Given the description of an element on the screen output the (x, y) to click on. 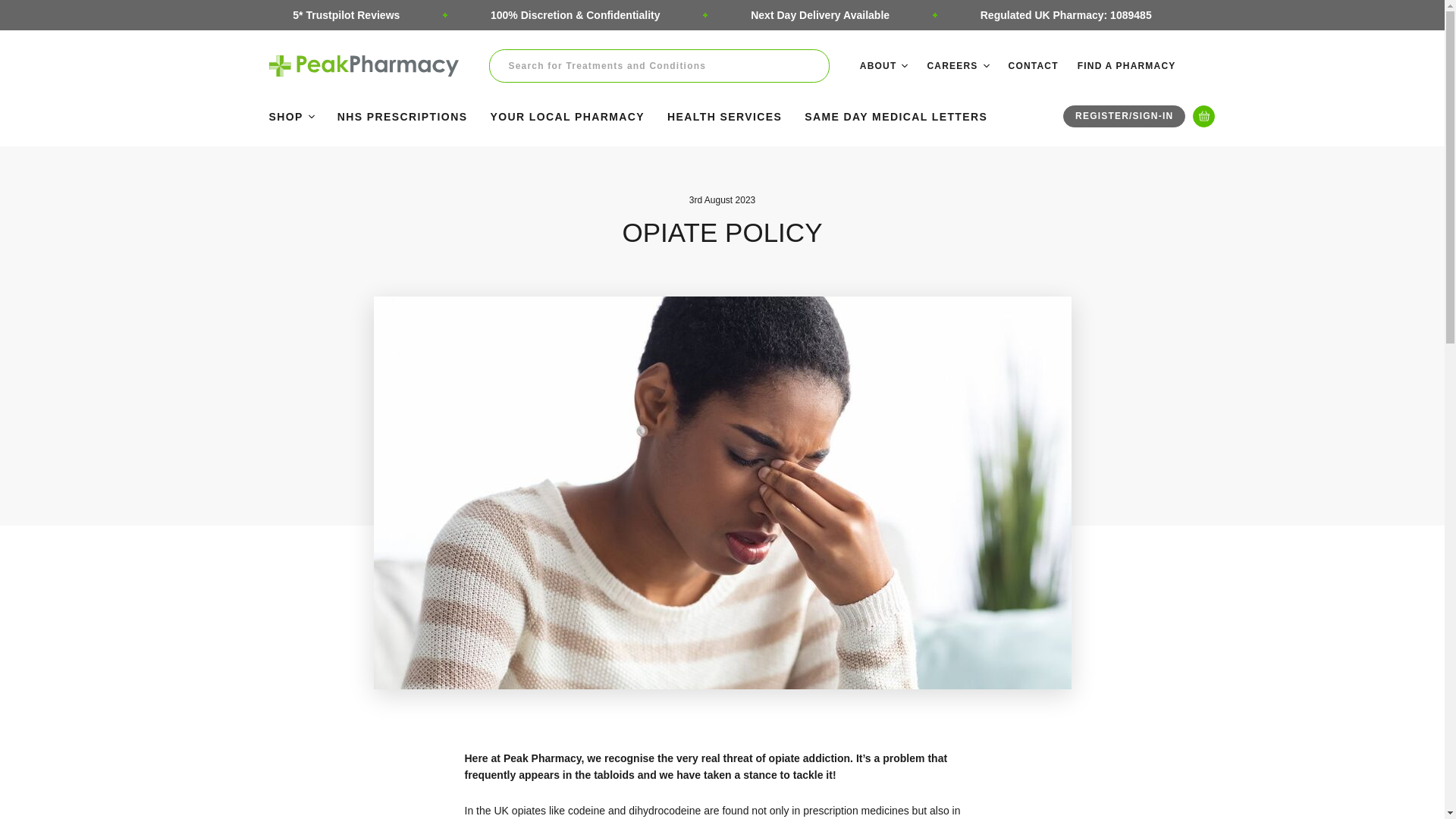
CONTACT (1033, 65)
ABOUT (884, 65)
FIND A PHARMACY (1126, 65)
CAREERS (957, 65)
SHOP (290, 115)
View basket (1203, 116)
